Given the description of an element on the screen output the (x, y) to click on. 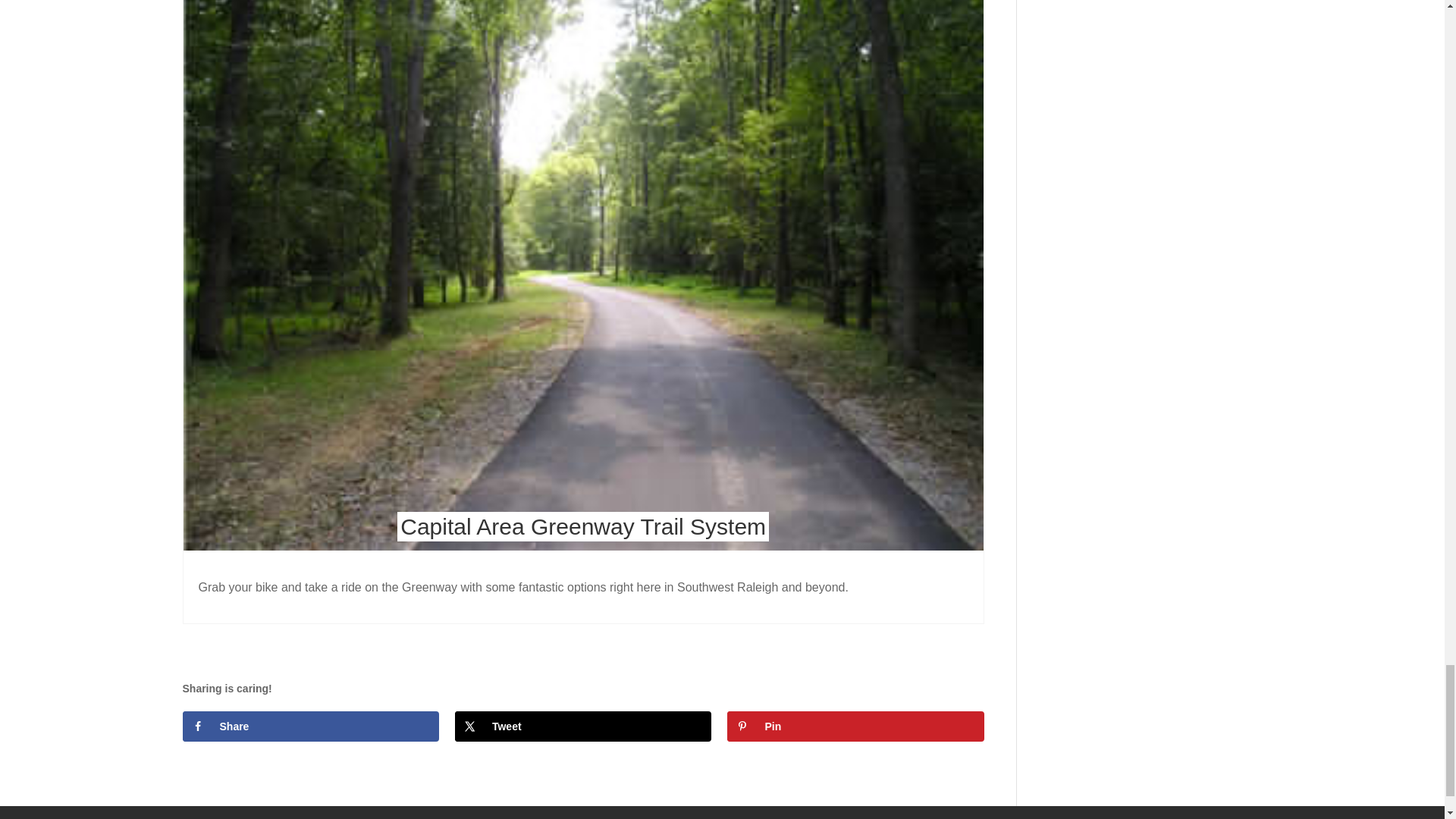
Share on Facebook (310, 726)
Save to Pinterest (855, 726)
Share on X (582, 726)
